Given the description of an element on the screen output the (x, y) to click on. 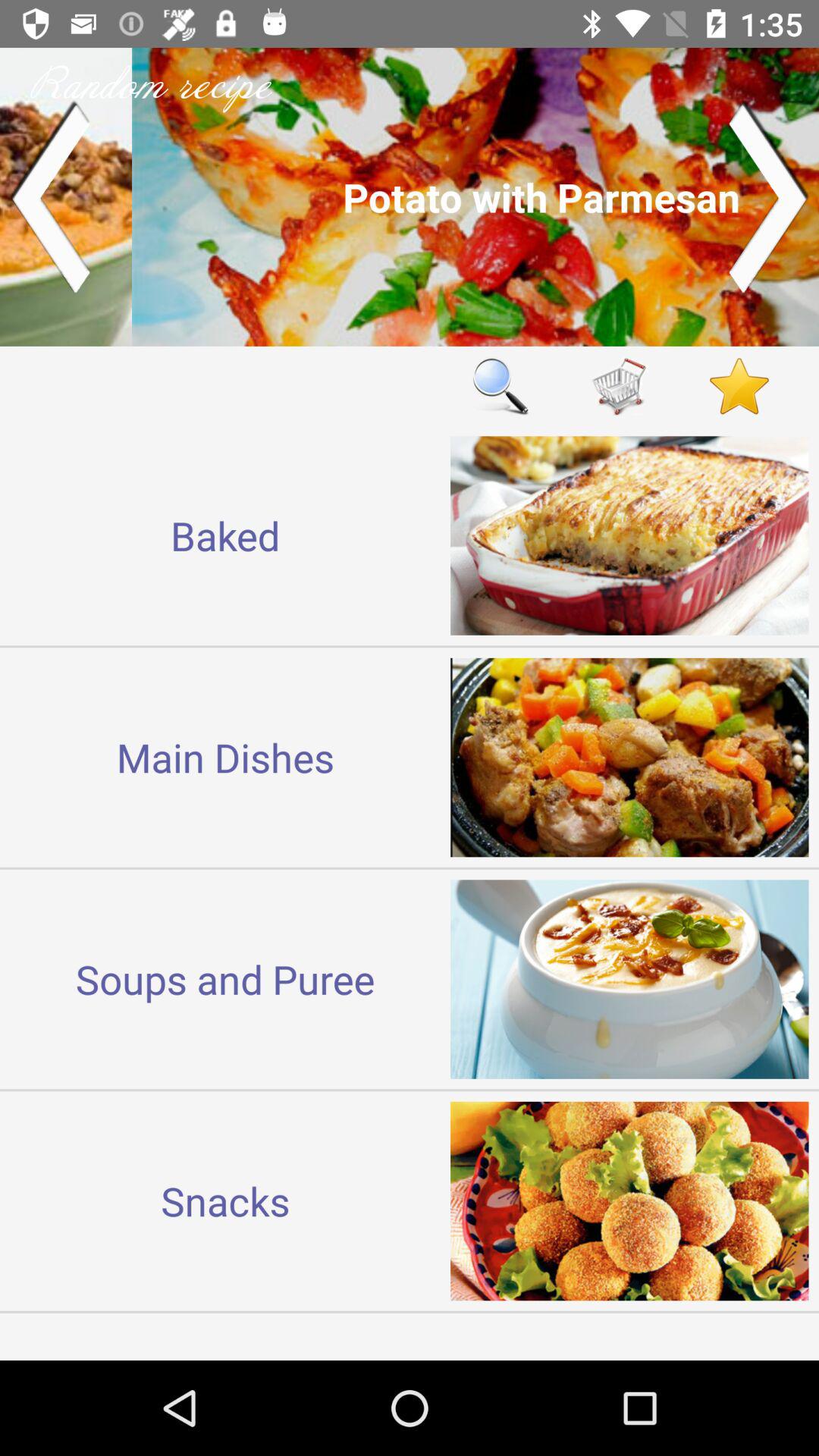
open shopping cart (619, 385)
